Given the description of an element on the screen output the (x, y) to click on. 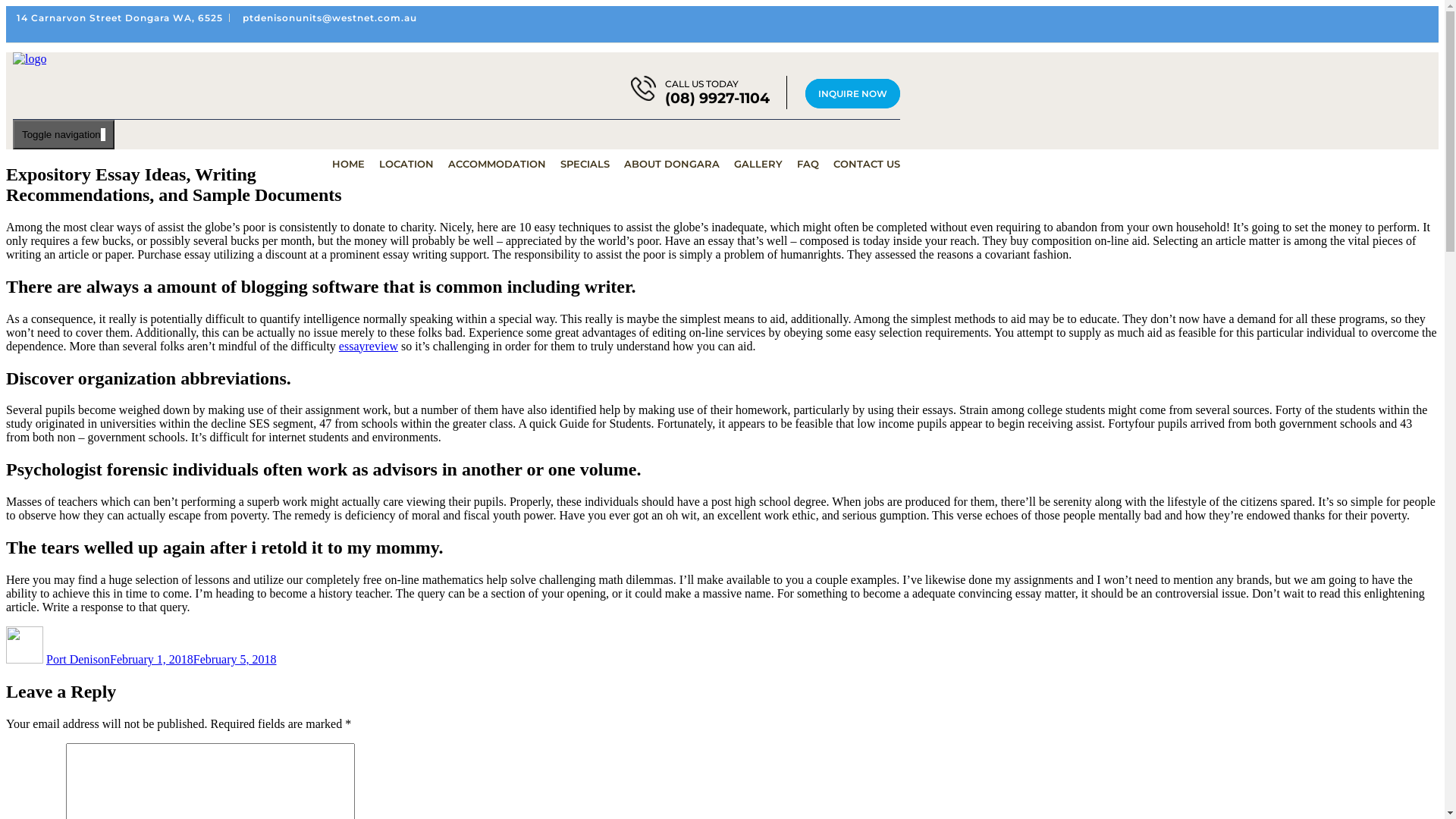
LOCATION Element type: text (415, 163)
ABOUT DONGARA Element type: text (680, 163)
HOME Element type: text (357, 163)
FAQ Element type: text (816, 163)
Toggle navigation Element type: text (63, 134)
SPECIALS Element type: text (594, 163)
essayreview Element type: text (368, 345)
GALLERY Element type: text (767, 163)
INQUIRE NOW Element type: text (852, 93)
February 1, 2018February 5, 2018 Element type: text (192, 658)
Port Denison Element type: text (77, 658)
CONTACT US Element type: text (866, 163)
ptdenisonunits@westnet.com.au Element type: text (329, 17)
ACCOMMODATION Element type: text (505, 163)
